Given the description of an element on the screen output the (x, y) to click on. 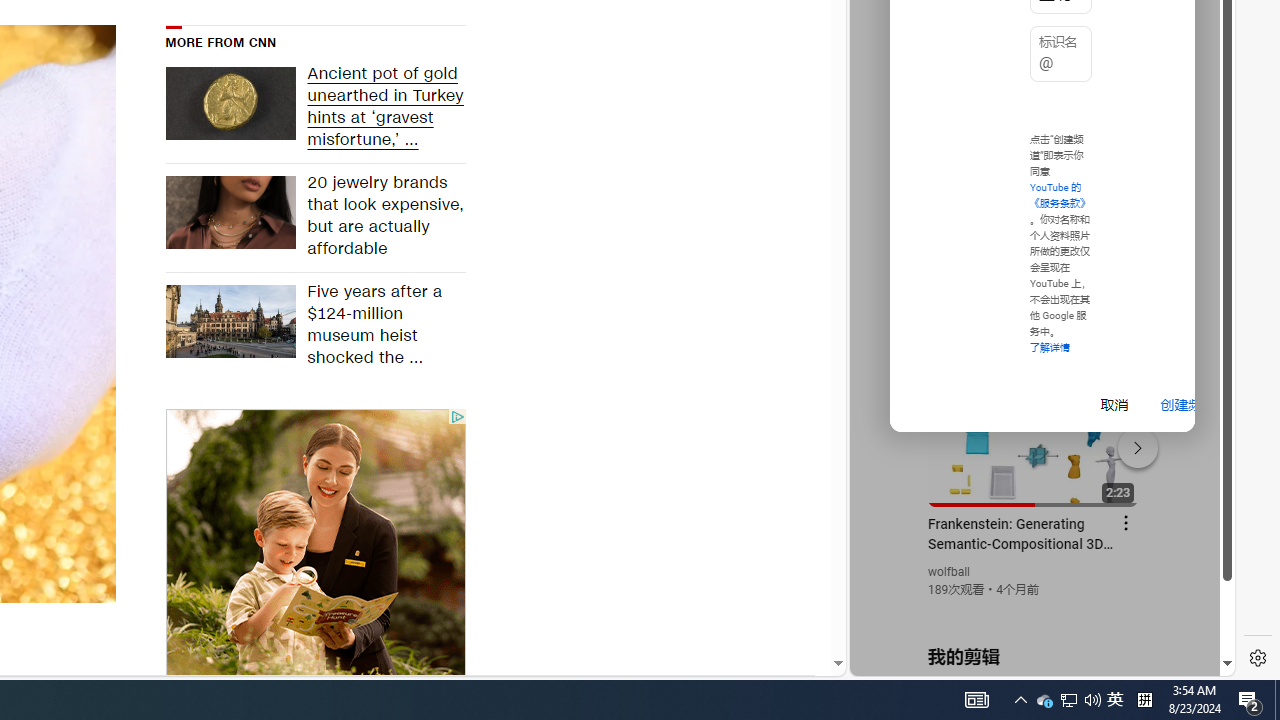
wolfball (949, 572)
you (1034, 609)
US[ju] (917, 660)
